Given the description of an element on the screen output the (x, y) to click on. 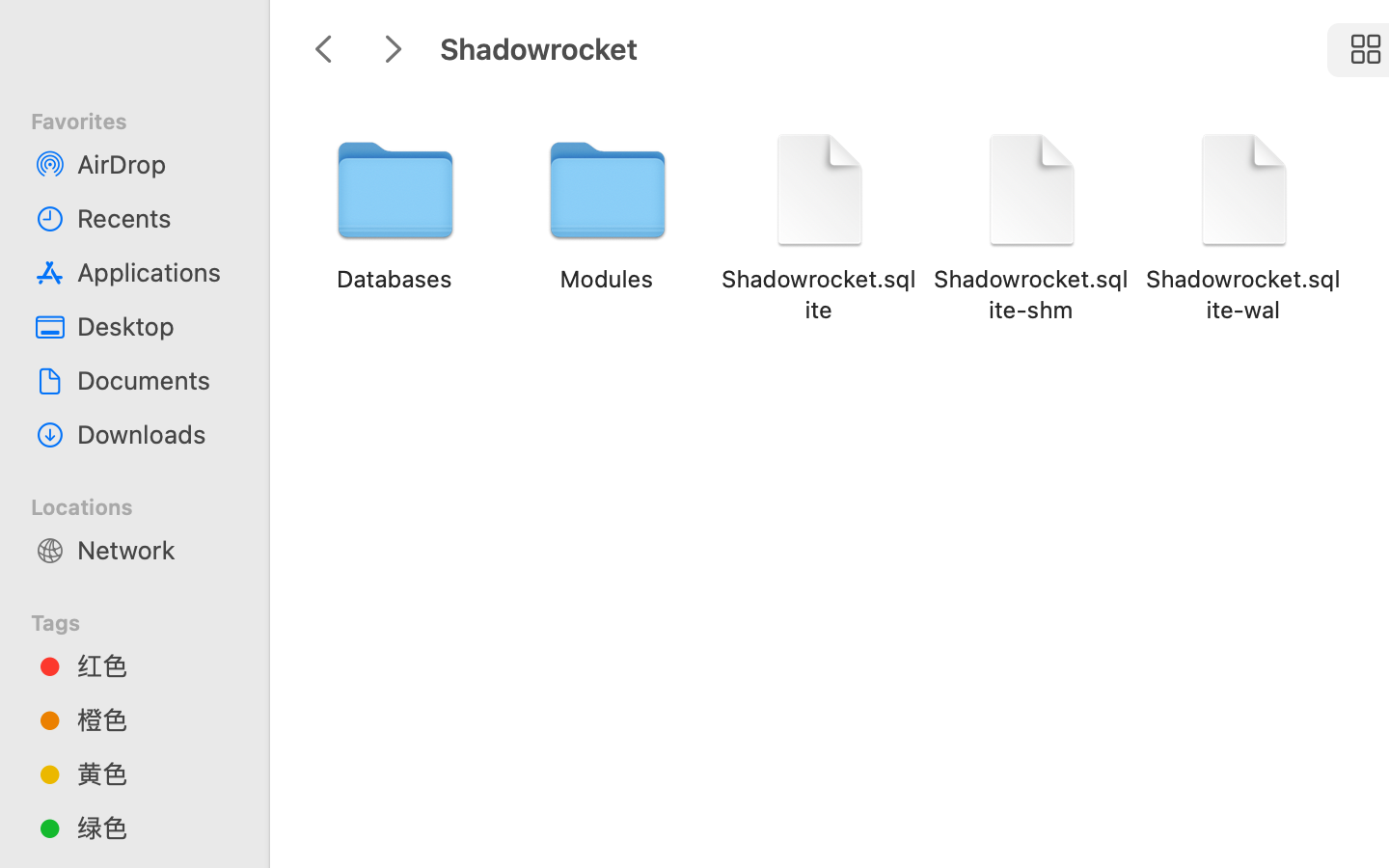
AirDrop Element type: AXStaticText (155, 163)
Desktop Element type: AXStaticText (155, 325)
Recents Element type: AXStaticText (155, 217)
Locations Element type: AXStaticText (145, 504)
Applications Element type: AXStaticText (155, 271)
